Given the description of an element on the screen output the (x, y) to click on. 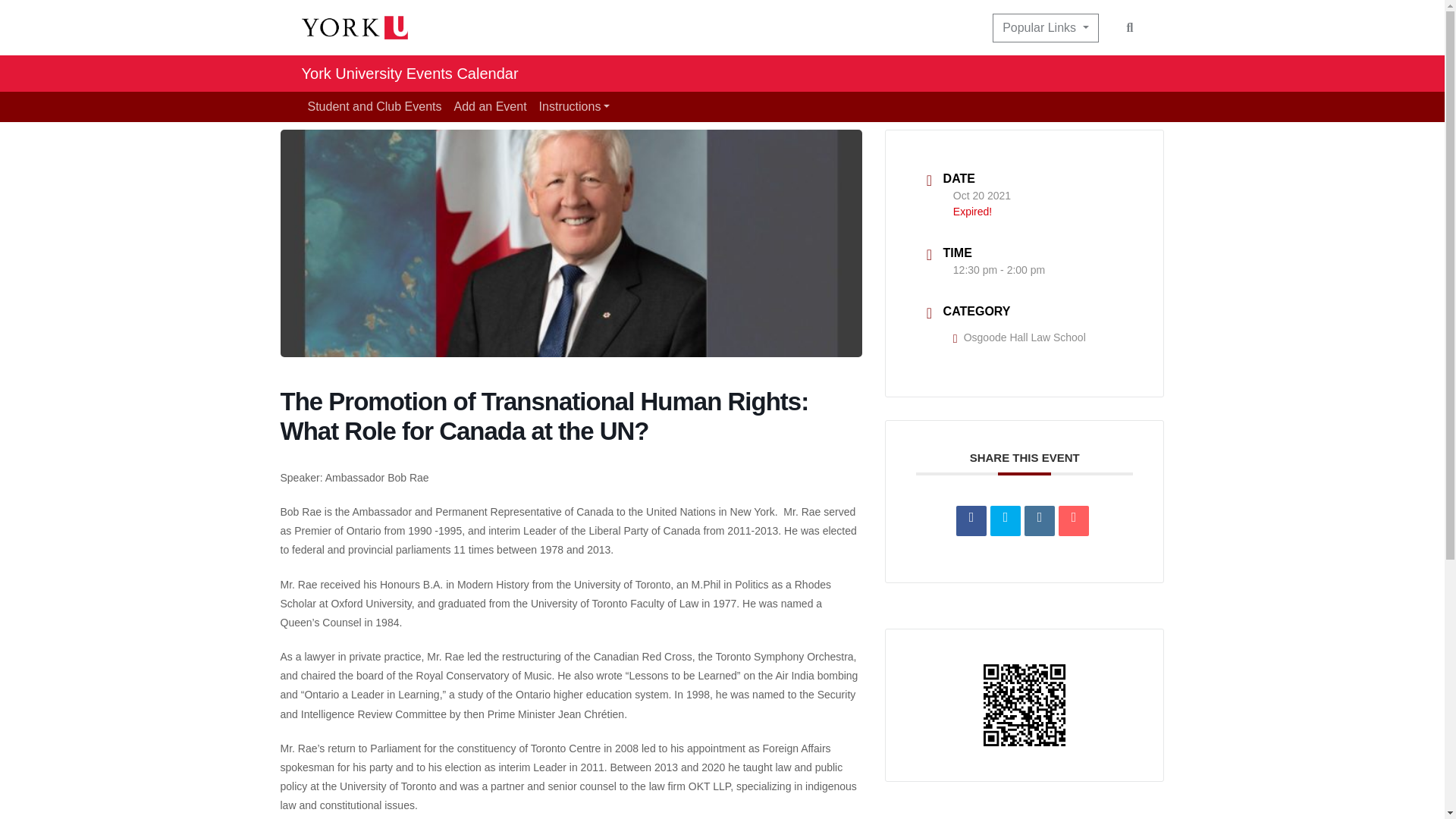
York University Events Calendar (409, 73)
Email (1073, 521)
Popular Links (1044, 27)
Add an Event (490, 106)
Osgoode Hall Law School (1019, 337)
Linkedin (1039, 521)
Search (1129, 27)
Instructions (573, 106)
Tweet (1005, 521)
Share on Facebook (971, 521)
